Given the description of an element on the screen output the (x, y) to click on. 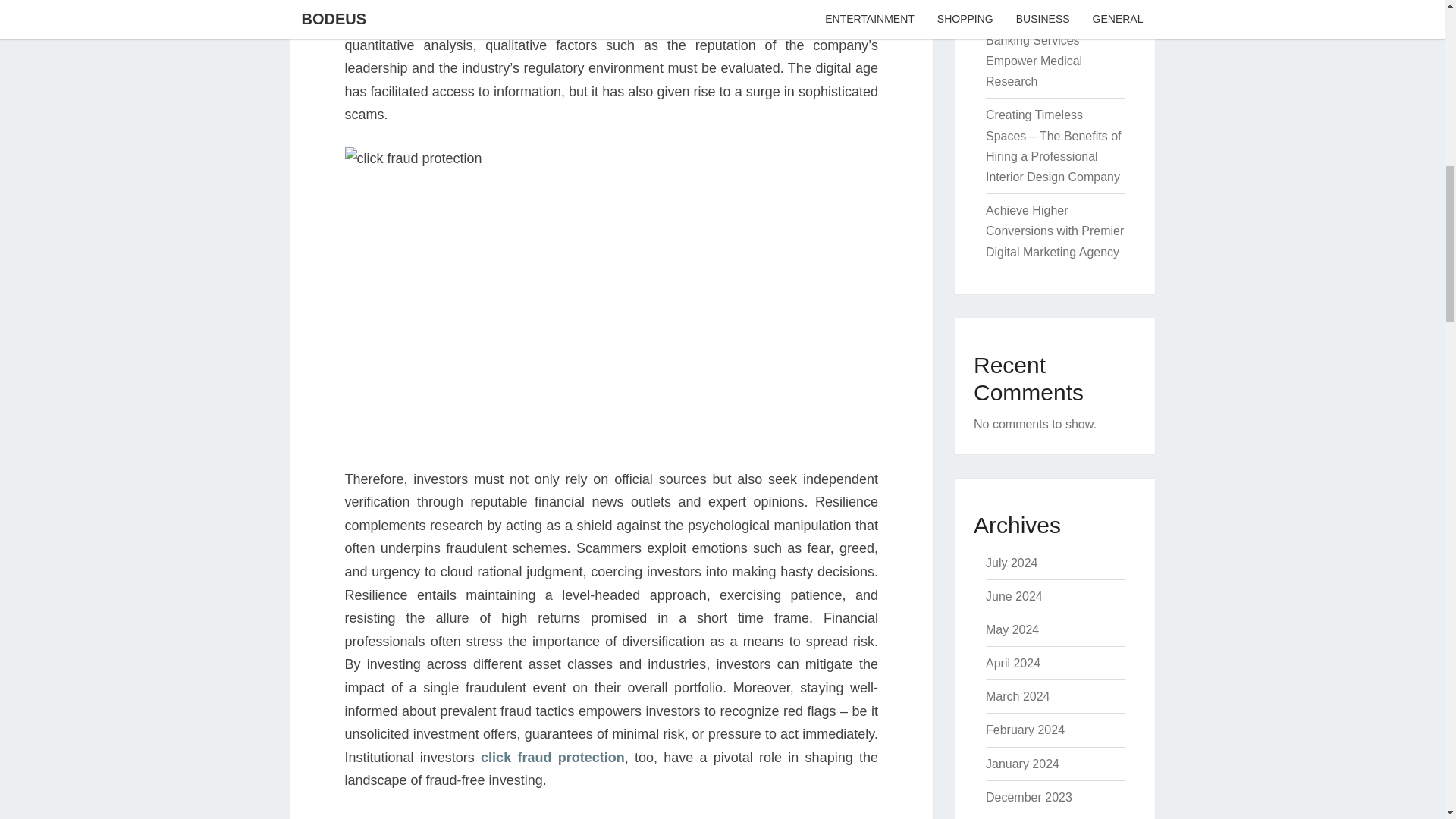
January 2024 (1022, 763)
December 2023 (1028, 797)
April 2024 (1013, 662)
February 2024 (1024, 729)
March 2024 (1017, 696)
click fraud protection (552, 757)
June 2024 (1013, 595)
May 2024 (1012, 629)
July 2024 (1011, 562)
